Given the description of an element on the screen output the (x, y) to click on. 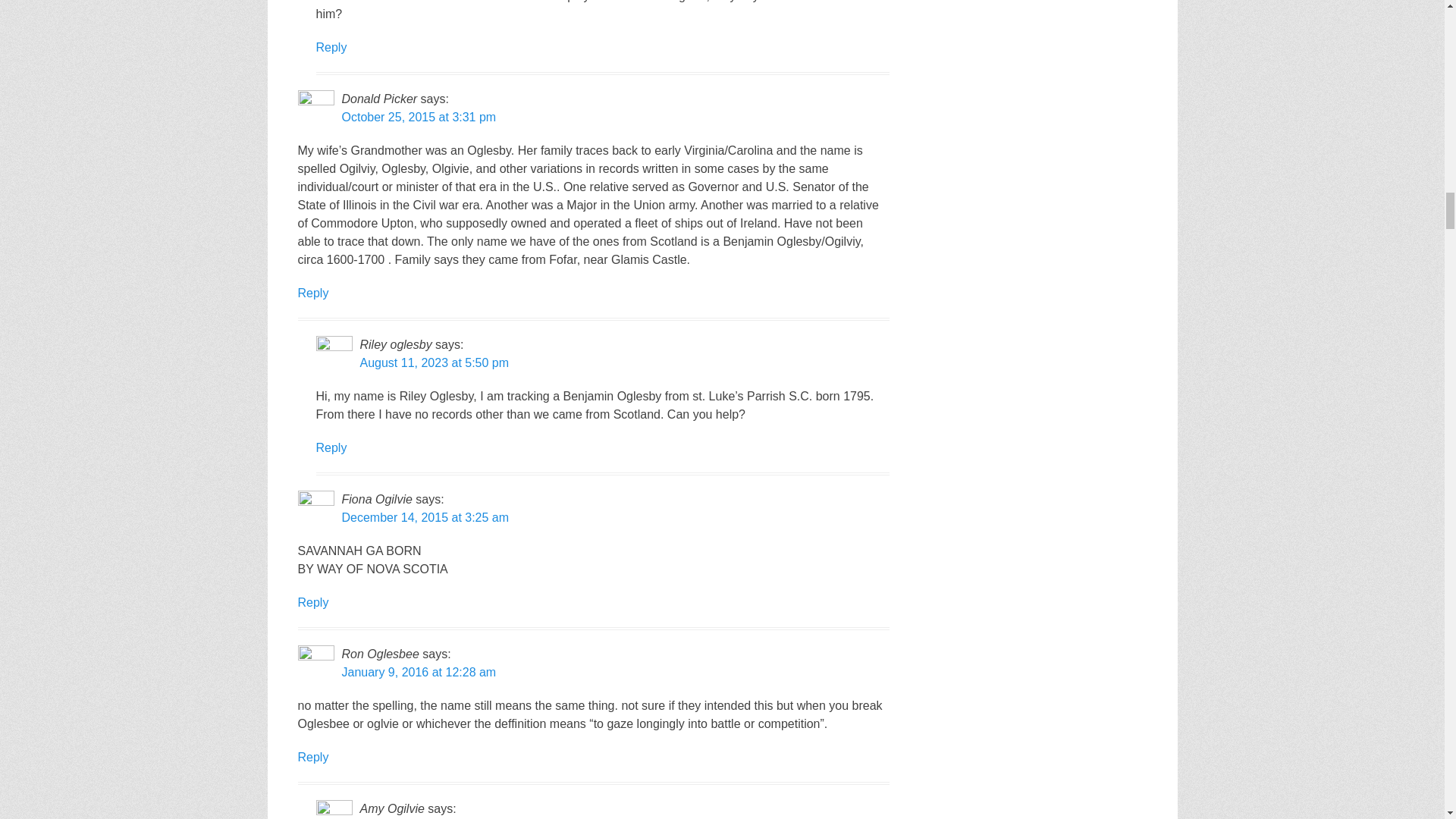
January 9, 2016 at 12:28 am (418, 671)
Reply (313, 757)
August 11, 2023 at 5:50 pm (433, 362)
December 14, 2015 at 3:25 am (424, 517)
Reply (330, 447)
Reply (313, 292)
Reply (313, 602)
Reply (330, 47)
October 25, 2015 at 3:31 pm (418, 116)
